Given the description of an element on the screen output the (x, y) to click on. 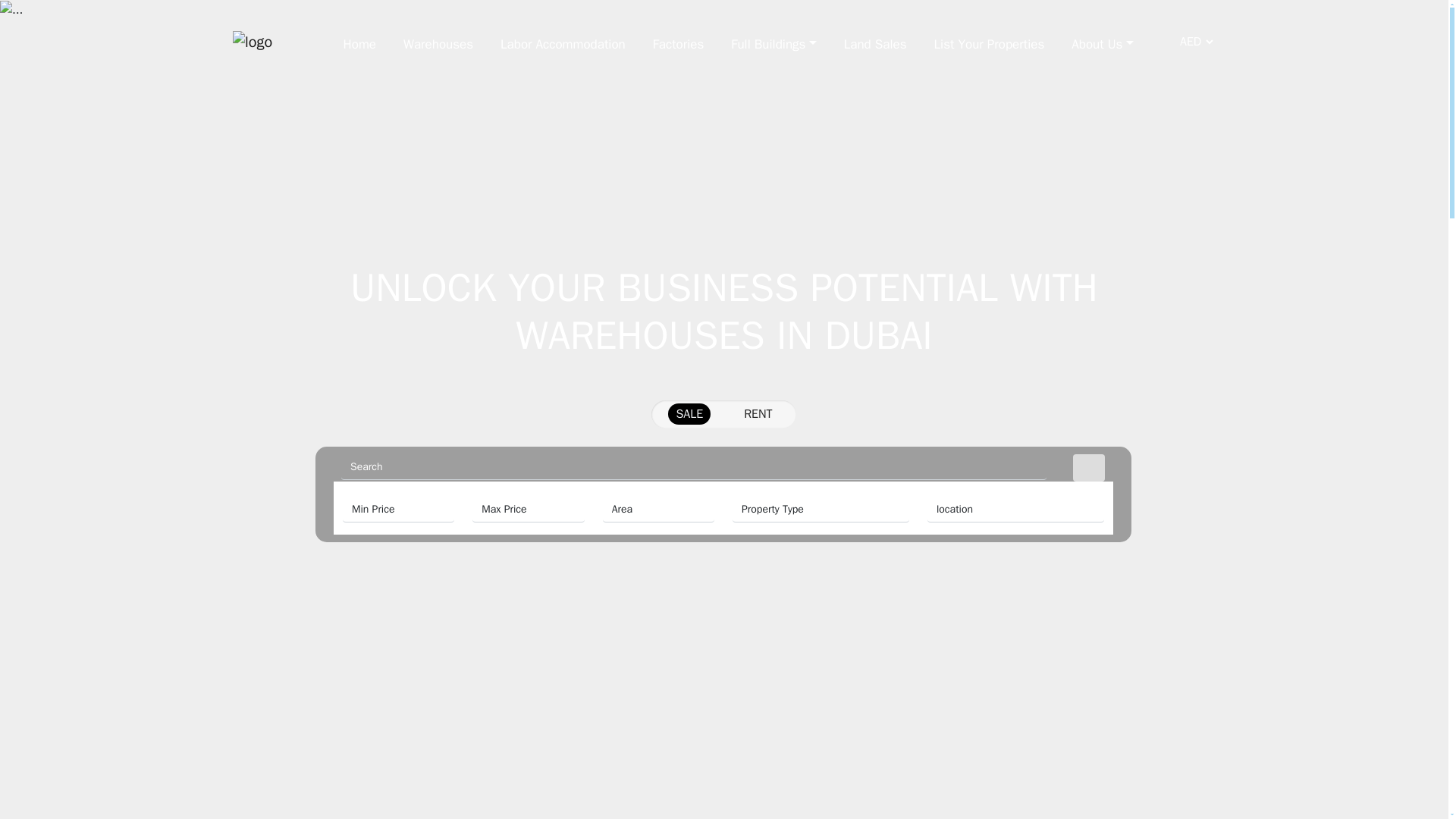
Home (359, 41)
Full Buildings (773, 41)
Warehouses (438, 41)
About Us (1102, 41)
Labor Accommodation (563, 41)
List Your Properties (989, 41)
UNLOCK YOUR BUSINESS POTENTIAL WITH WAREHOUSES IN DUBAI (723, 310)
Factories (678, 41)
Land Sales (875, 41)
